Given the description of an element on the screen output the (x, y) to click on. 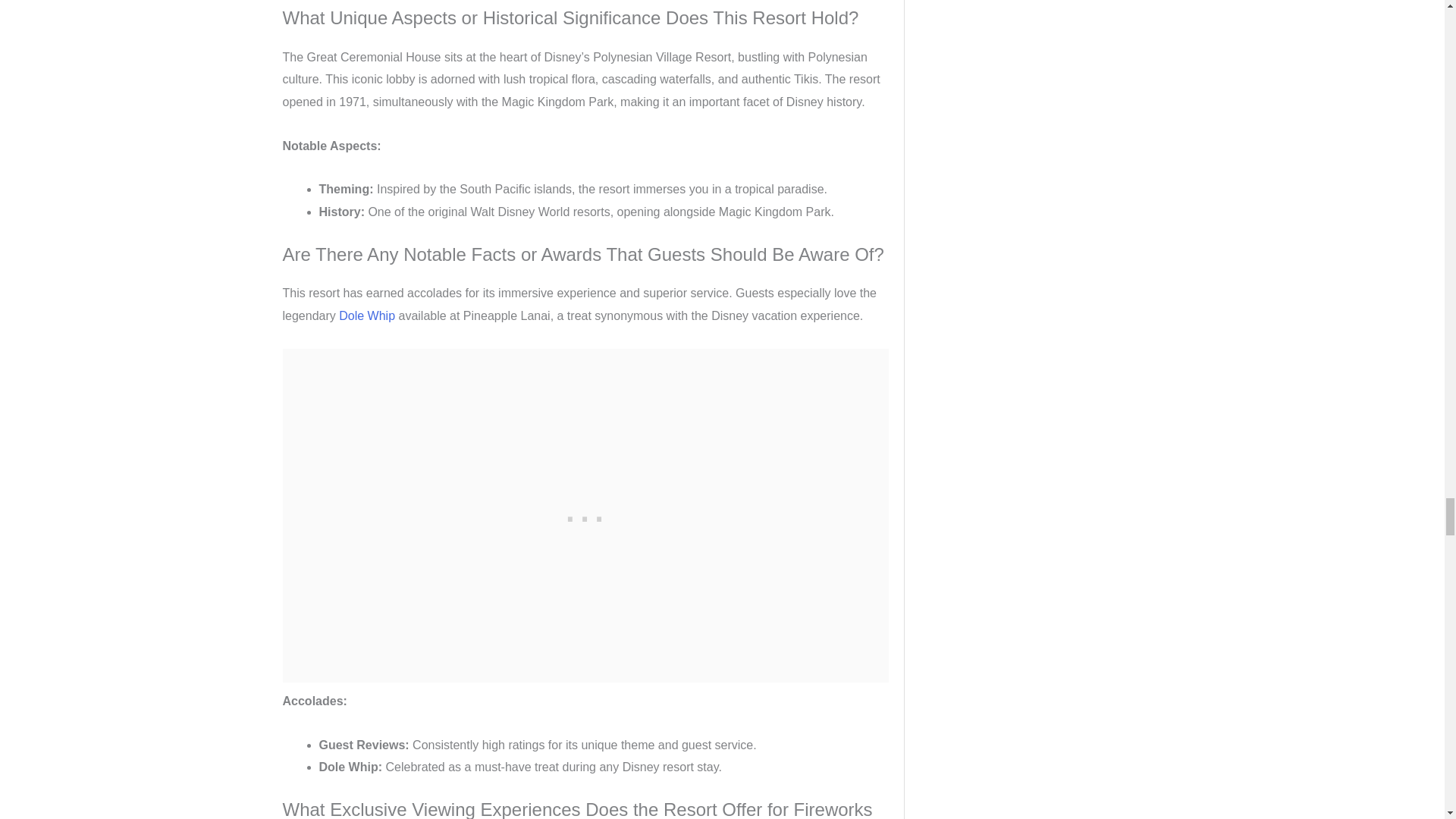
Dole Whip (366, 315)
Dole Whip (366, 315)
